Given the description of an element on the screen output the (x, y) to click on. 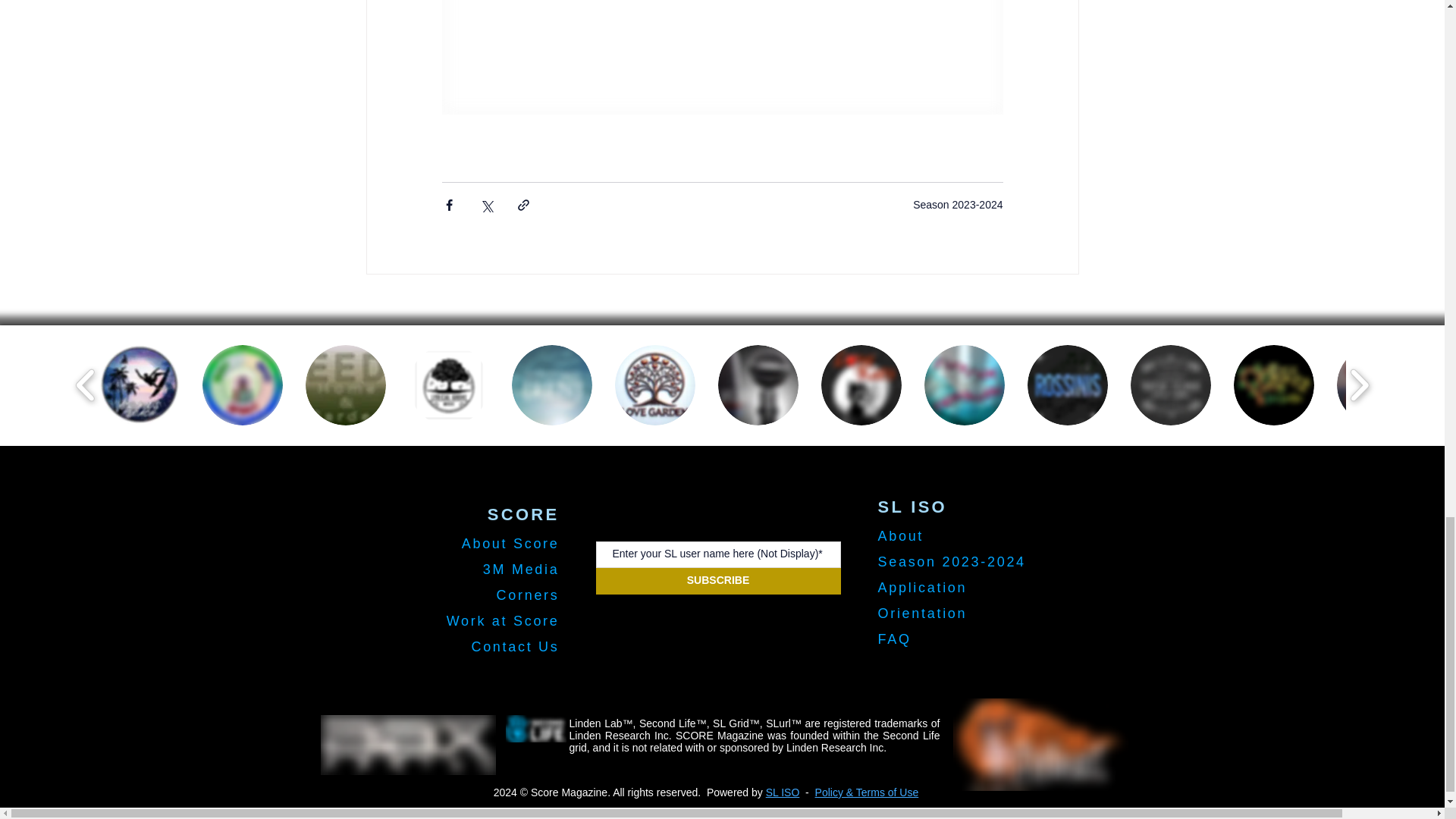
SL - Logo.png (535, 728)
flygearzlogotrans.png (1039, 744)
BBX LOGO 2015 PNG.png (407, 744)
